Given the description of an element on the screen output the (x, y) to click on. 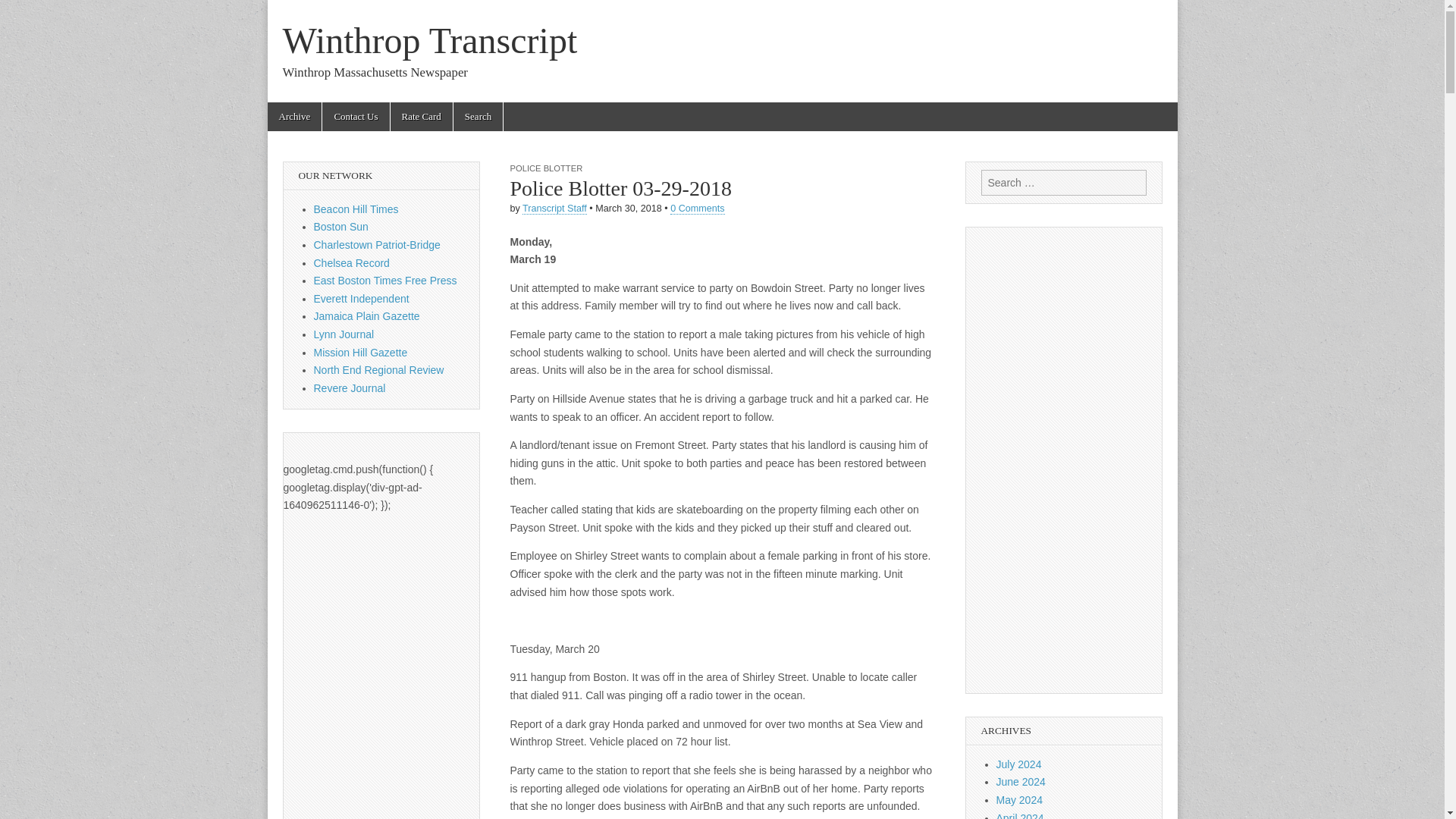
Mission Hill Gazette (360, 352)
0 Comments (696, 208)
Everett Independent (361, 298)
Winthrop Transcript (429, 40)
East Boston Times Free Press (385, 280)
Archive (293, 116)
Search (23, 12)
Charlestown Patriot-Bridge (377, 244)
Posts by Transcript Staff (554, 208)
Beacon Hill Times (356, 209)
POLICE BLOTTER (545, 167)
North End Regional Review (379, 369)
Transcript Staff (554, 208)
